Given the description of an element on the screen output the (x, y) to click on. 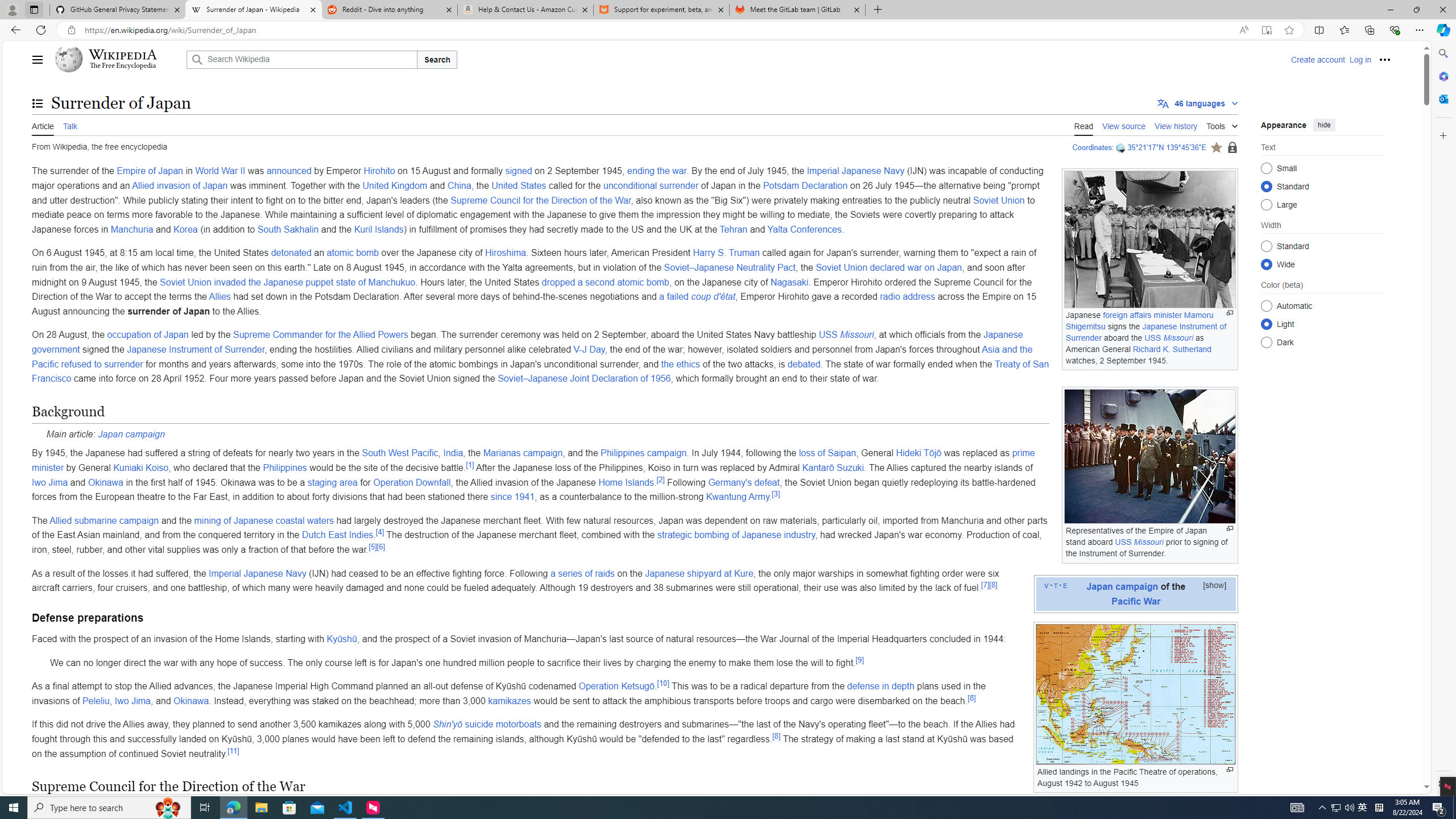
Allied submarine campaign (103, 520)
Class: mw-list-item mw-list-item-js (1321, 323)
Talk (69, 124)
Harry S. Truman (726, 252)
Allied invasion of Japan (180, 185)
Supreme Council for the Direction of the War (540, 199)
foreign affairs minister (1142, 315)
refused to surrender (101, 363)
India (452, 452)
South West Pacific (399, 452)
